Given the description of an element on the screen output the (x, y) to click on. 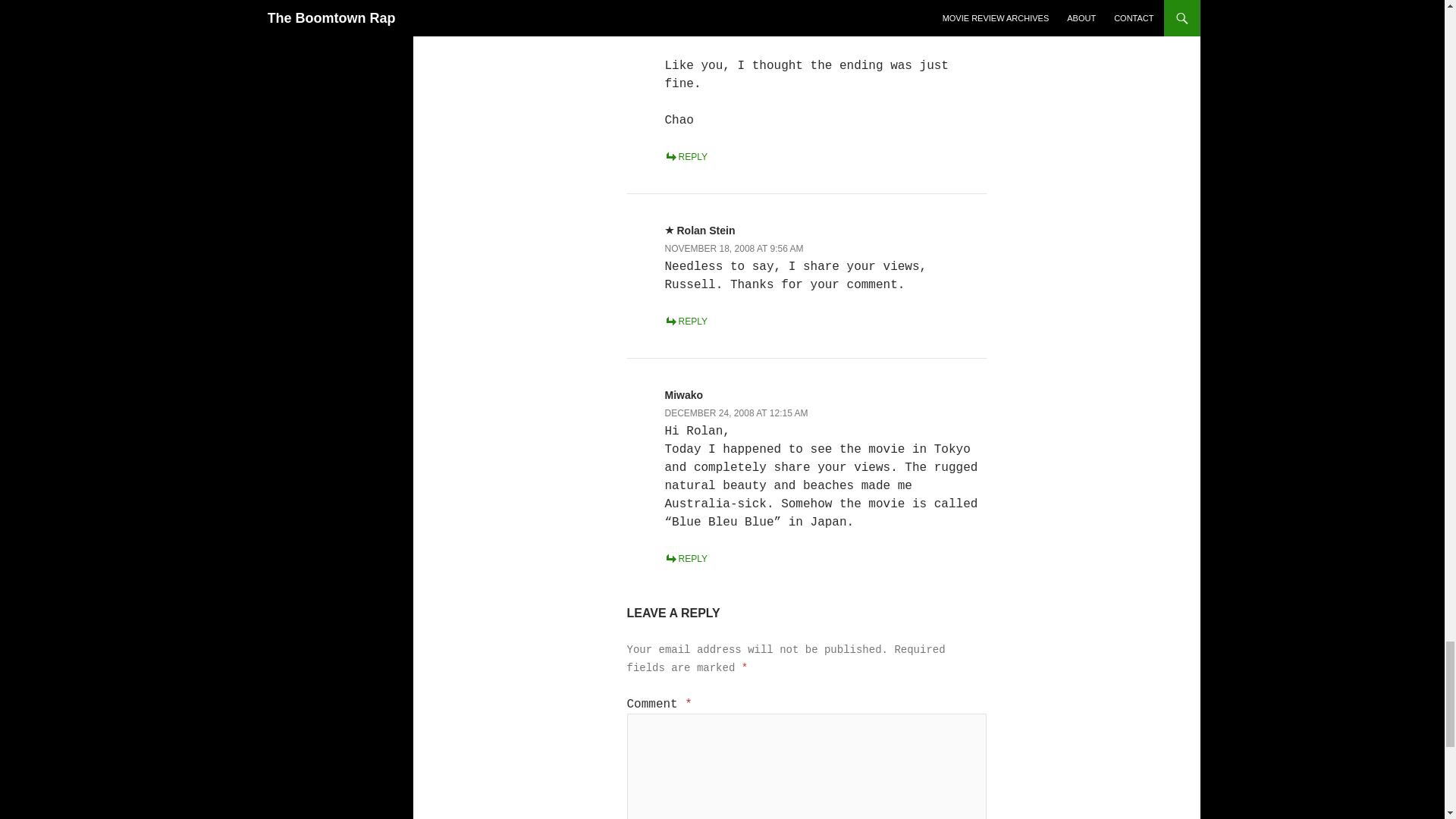
REPLY (684, 558)
DECEMBER 24, 2008 AT 12:15 AM (735, 412)
NOVEMBER 18, 2008 AT 9:56 AM (733, 248)
REPLY (684, 321)
REPLY (684, 156)
